Given the description of an element on the screen output the (x, y) to click on. 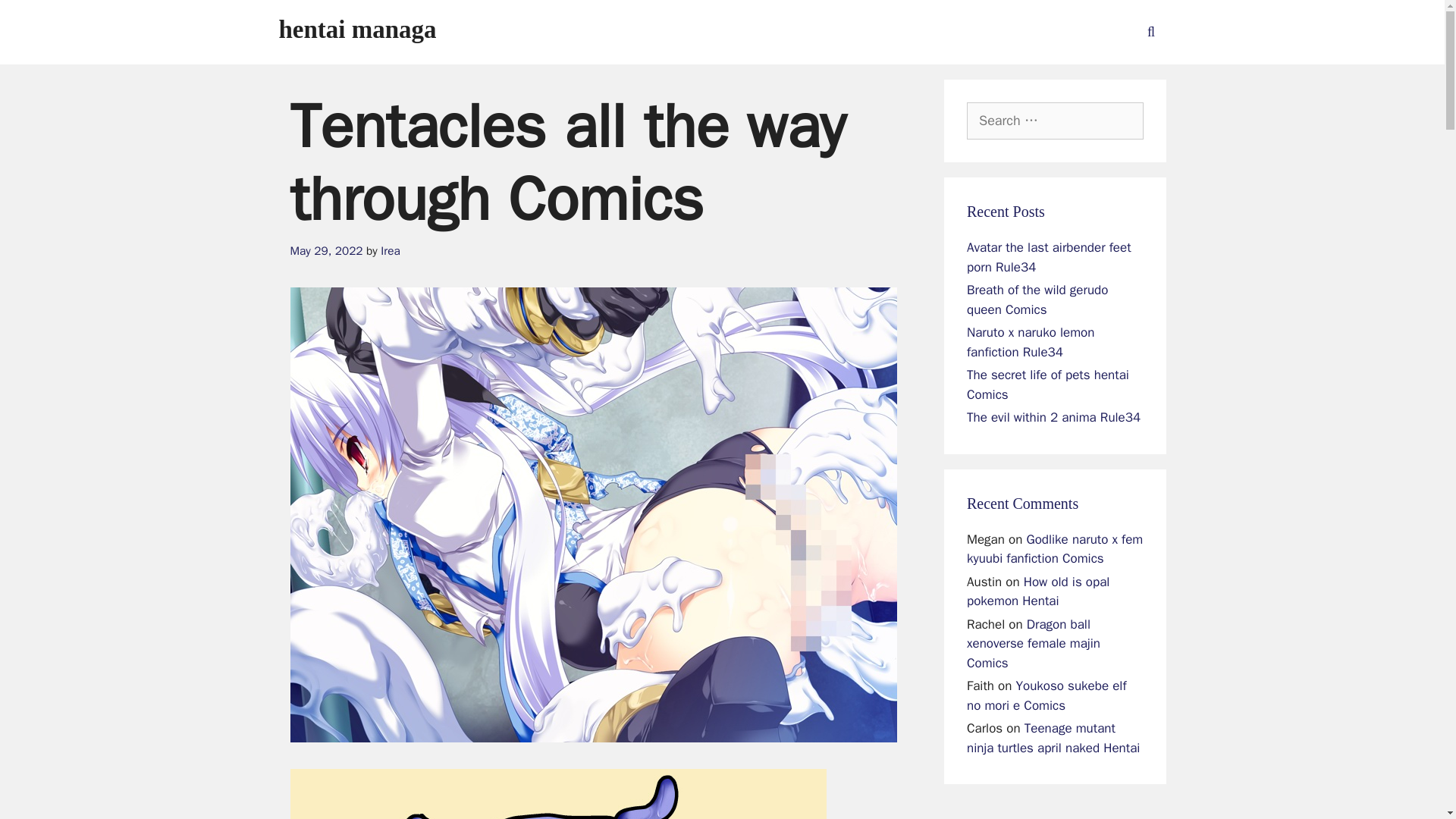
View all posts by Irea (389, 250)
Breath of the wild gerudo queen Comics (1037, 299)
The evil within 2 anima Rule34 (1053, 417)
How old is opal pokemon Hentai (1037, 591)
Search (35, 18)
Search for: (1054, 120)
Youkoso sukebe elf no mori e Comics (1046, 695)
Irea (389, 250)
12:54 pm (325, 250)
hentai managa (357, 29)
Teenage mutant ninja turtles april naked Hentai (1053, 737)
Godlike naruto x fem kyuubi fanfiction Comics (1054, 548)
Avatar the last airbender feet porn Rule34 (1048, 257)
Naruto x naruko lemon fanfiction Rule34 (1030, 342)
Dragon ball xenoverse female majin Comics (1033, 642)
